Given the description of an element on the screen output the (x, y) to click on. 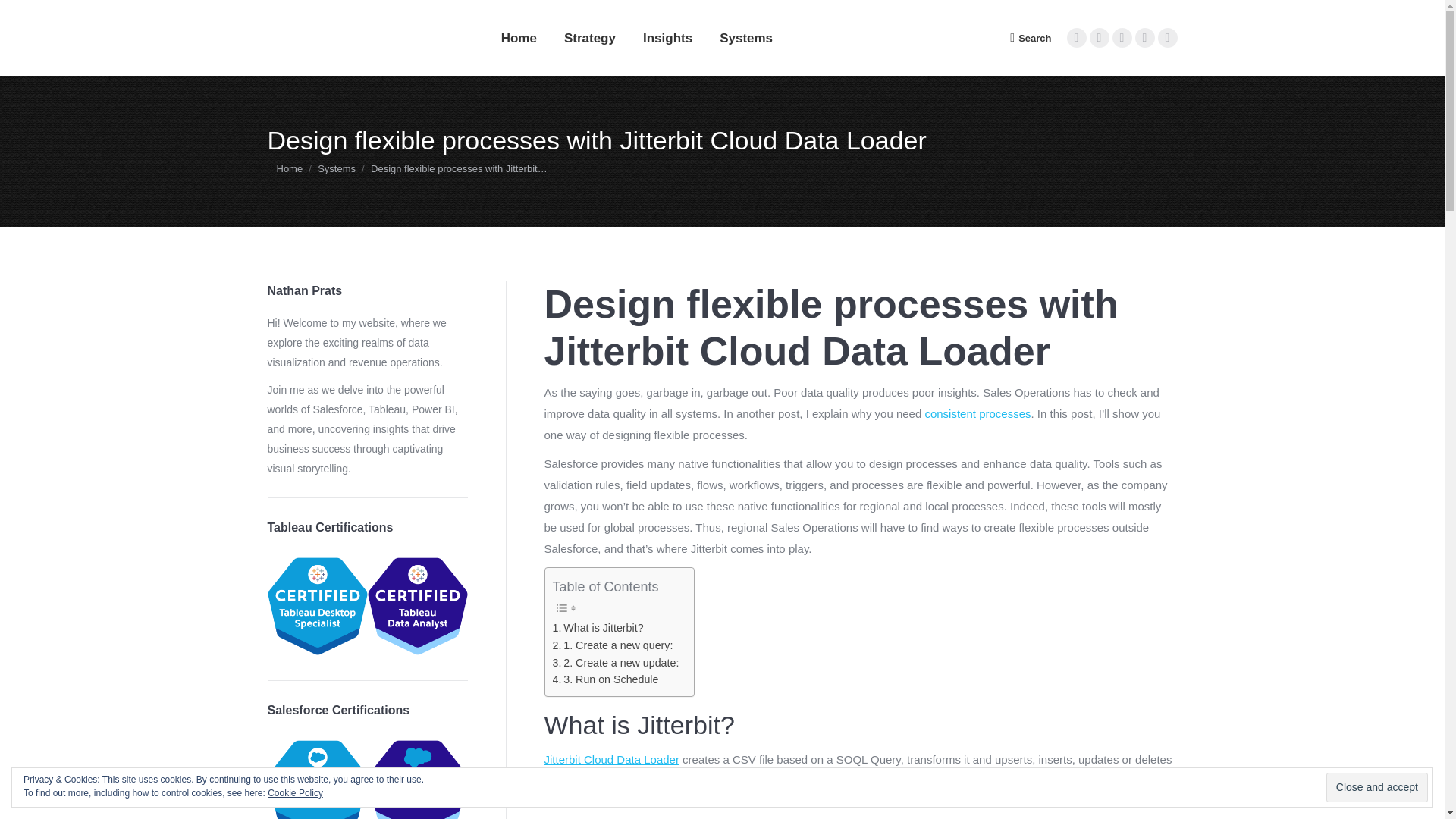
Linkedin page opens in new window (1075, 37)
Close and accept (1377, 787)
2. Create a new update: (614, 662)
Website page opens in new window (1166, 37)
Website page opens in new window (1166, 37)
Mail page opens in new window (1121, 37)
Github page opens in new window (1144, 37)
1. Create a new query: (611, 645)
Mail page opens in new window (1121, 37)
Systems (336, 168)
